Given the description of an element on the screen output the (x, y) to click on. 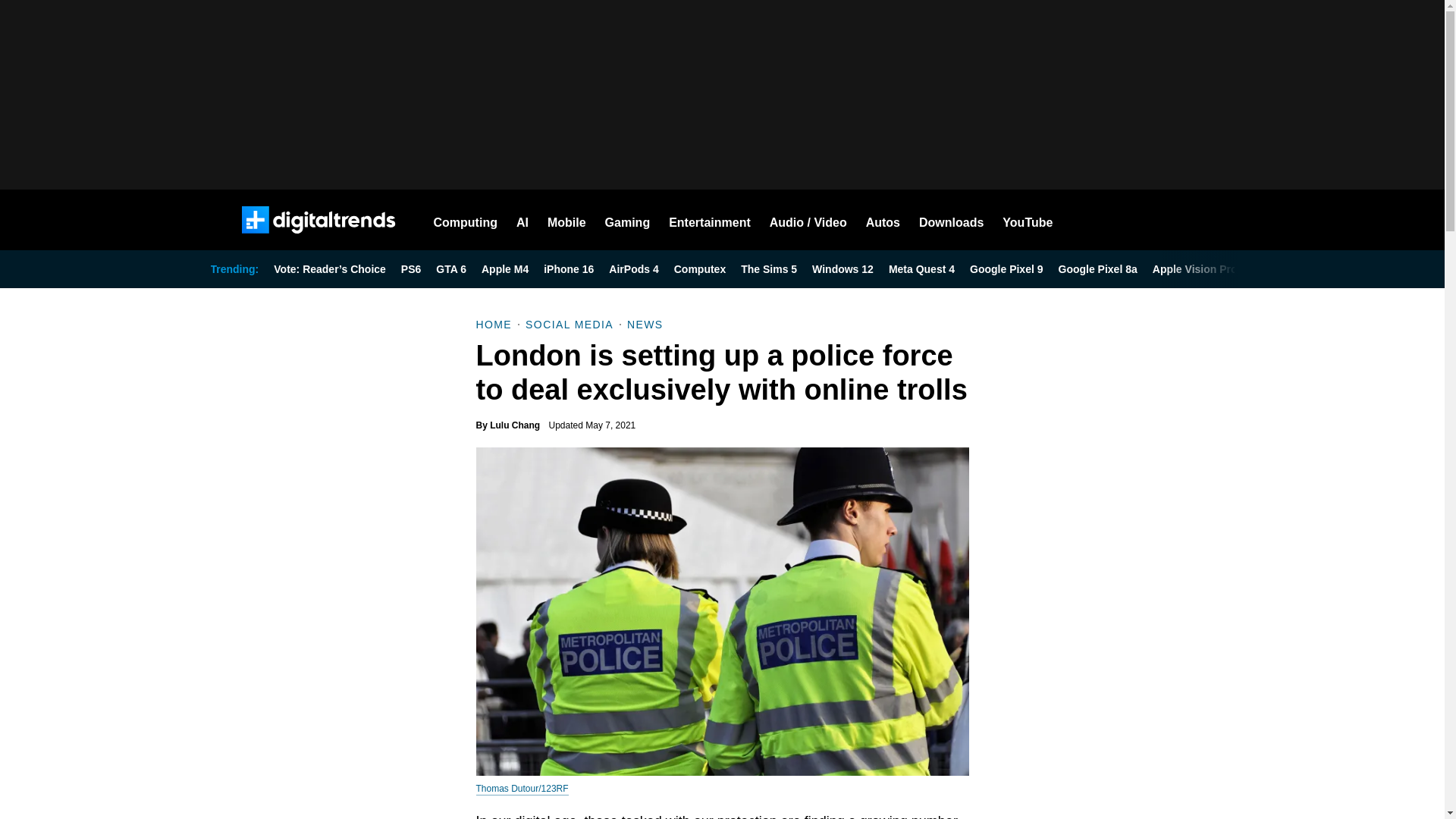
Downloads (951, 219)
Computing (465, 219)
Entertainment (709, 219)
